Given the description of an element on the screen output the (x, y) to click on. 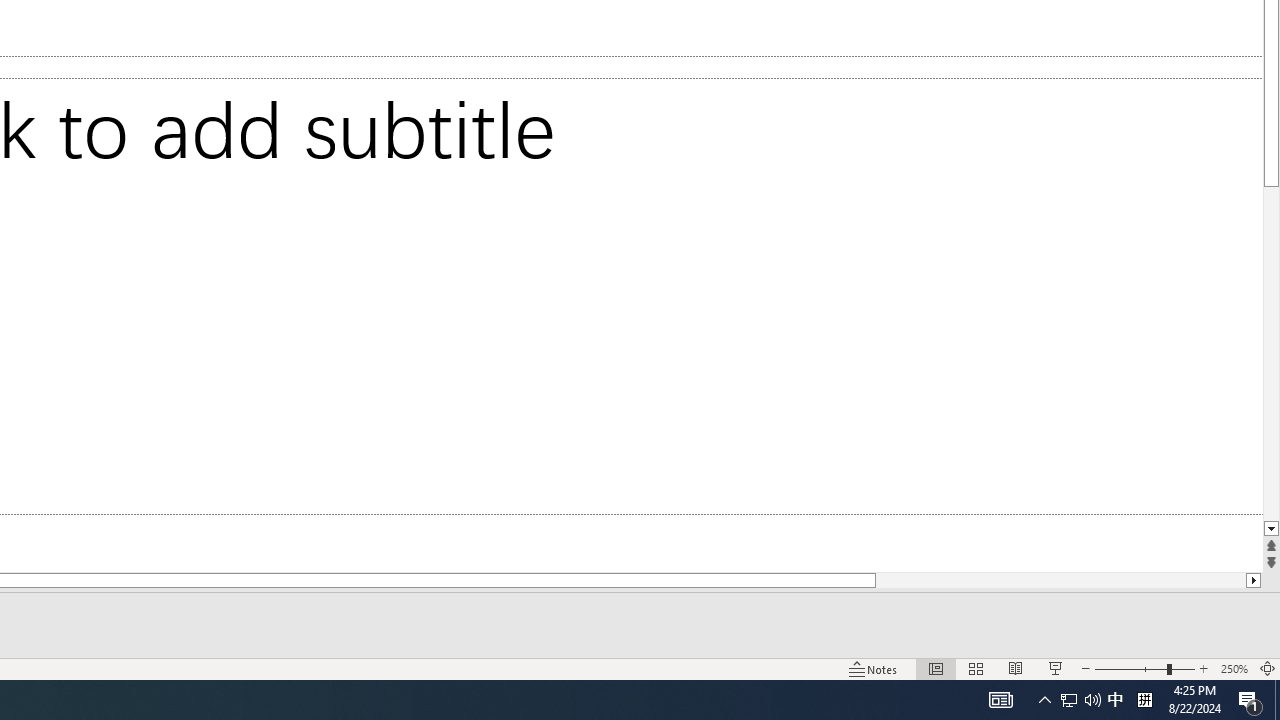
Zoom 250% (1234, 668)
